Given the description of an element on the screen output the (x, y) to click on. 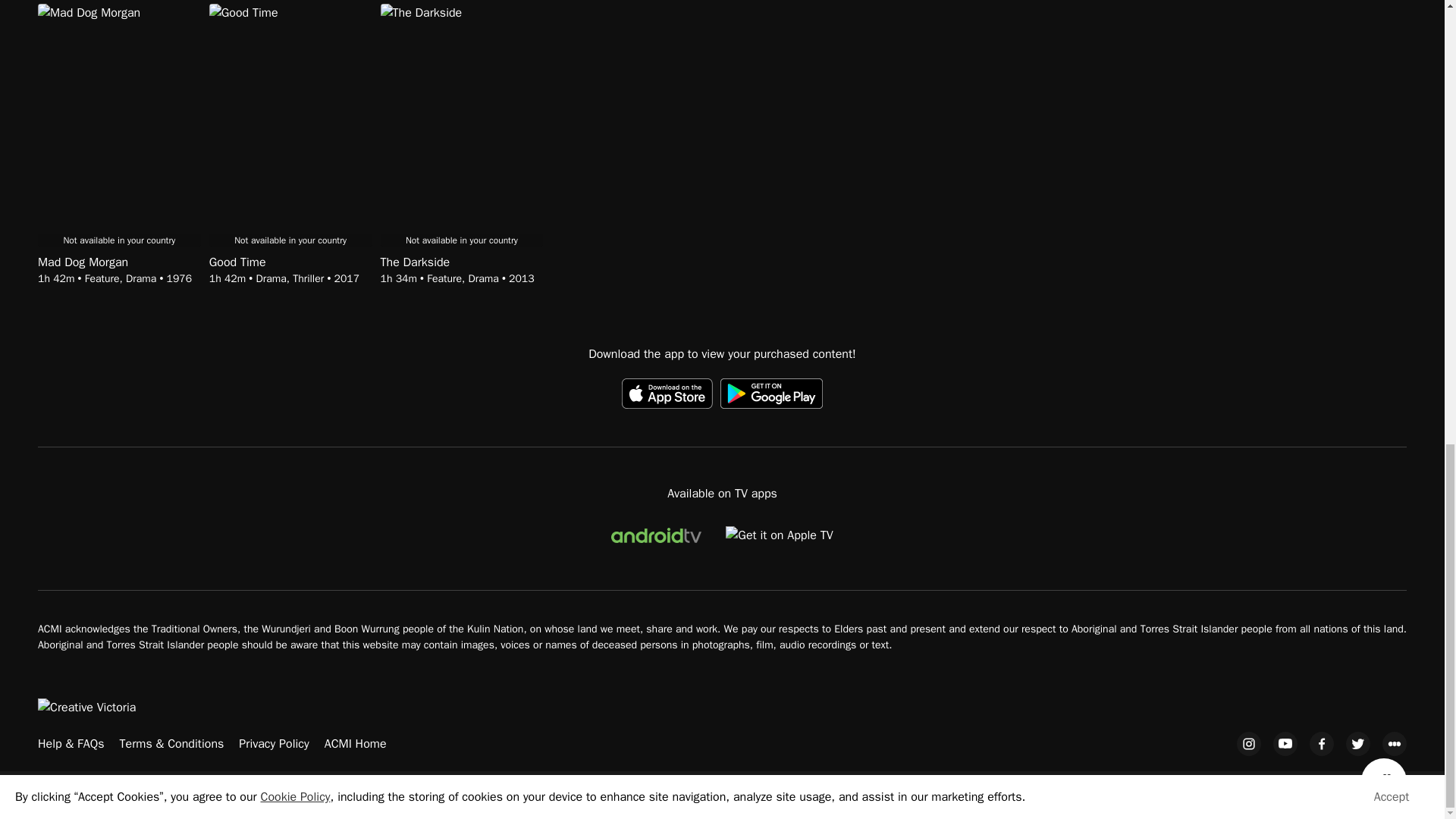
Visit us on Twitter (1357, 743)
Visit us on Letterboxd (1393, 743)
Visit us on Facebook (1320, 743)
Mad Dog Morgan (118, 262)
Visit us on Instagram (1248, 743)
Good Time (290, 262)
The Darkside (461, 262)
Subscribe on Youtube (1284, 743)
